Given the description of an element on the screen output the (x, y) to click on. 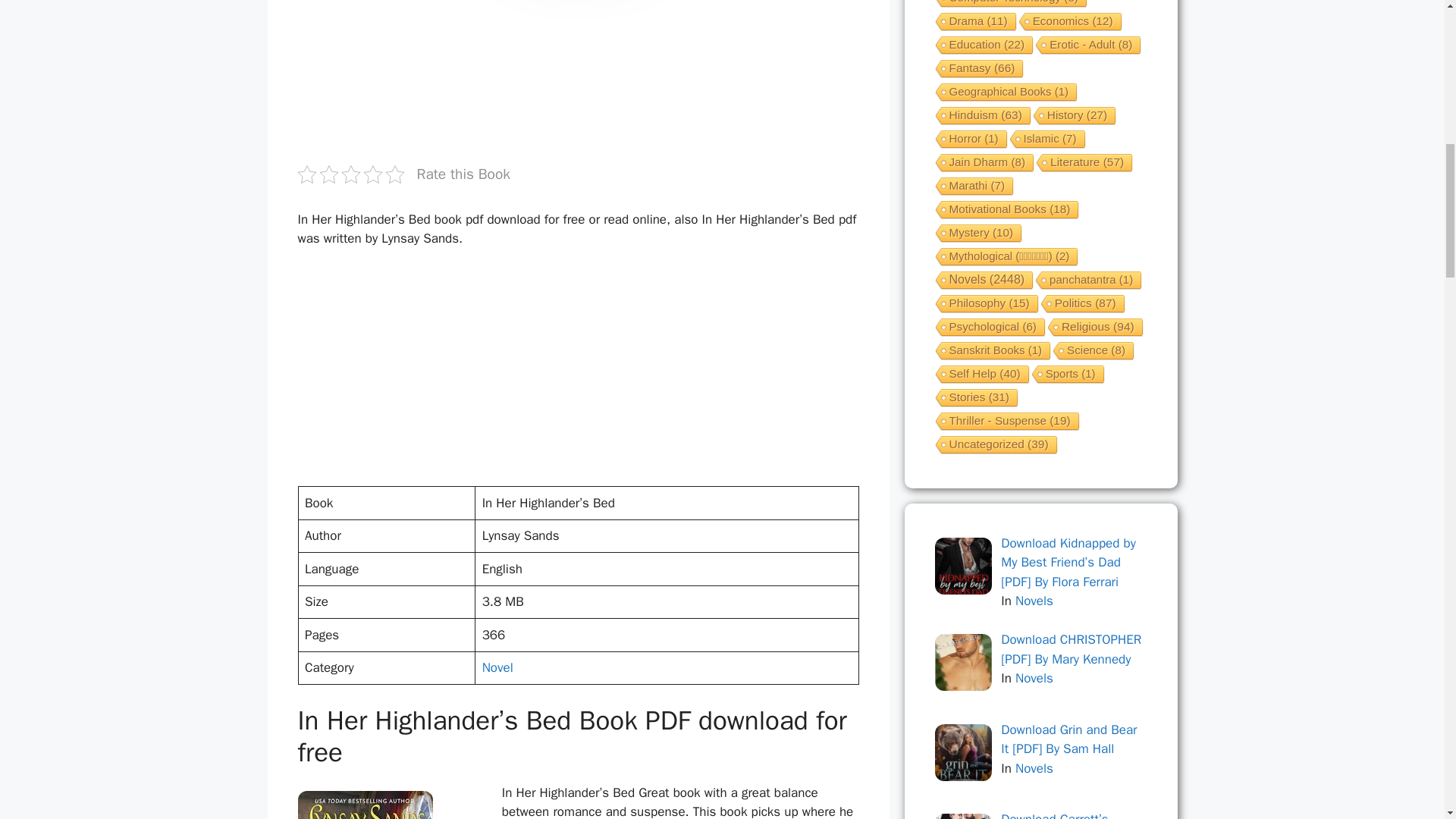
Advertisement (572, 373)
Scroll back to top (1406, 720)
Advertisement (572, 79)
